Given the description of an element on the screen output the (x, y) to click on. 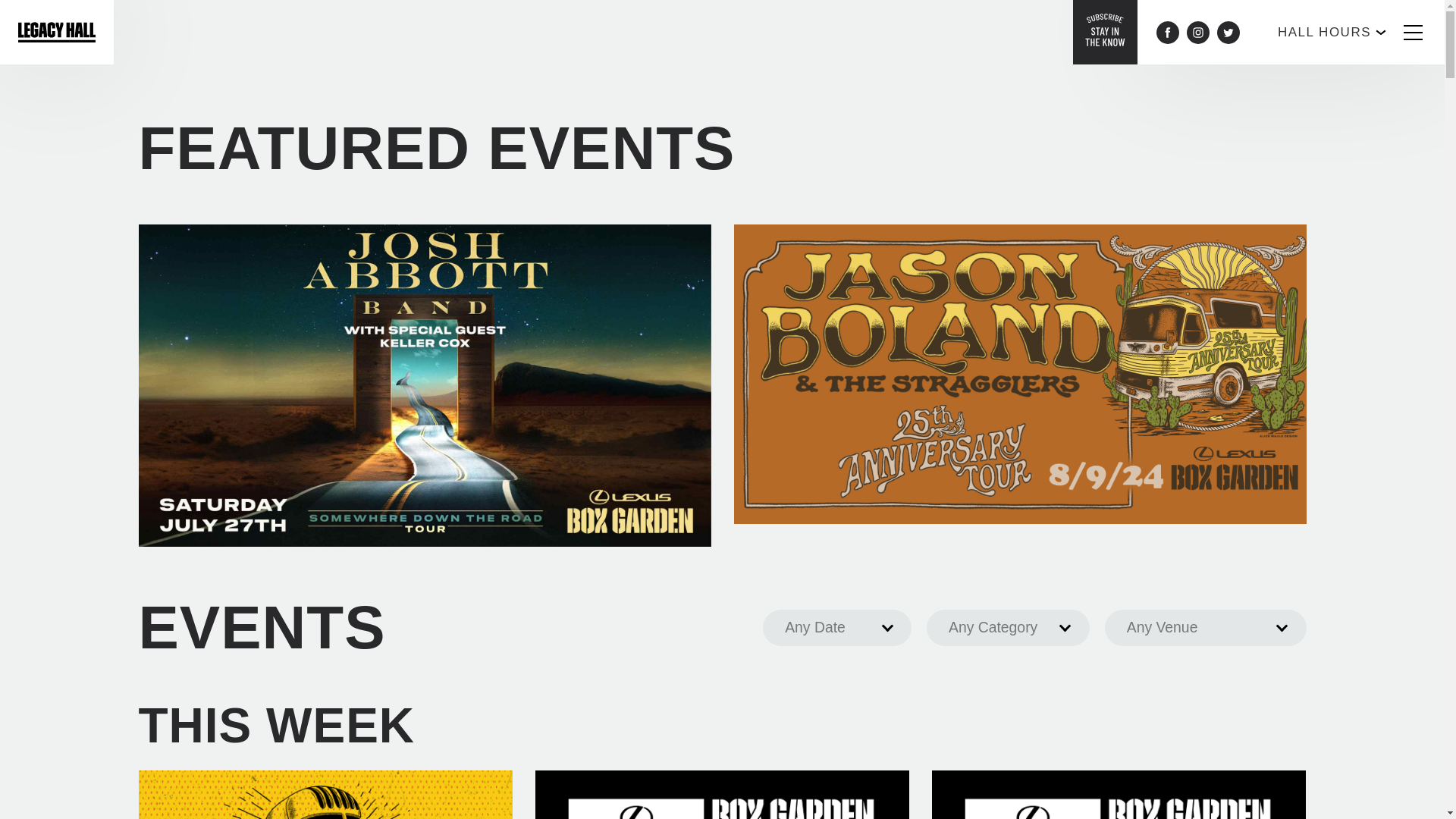
See Facebook Social Page (1167, 32)
Subscribe - Stay in the know (1104, 29)
Stay in the know (1105, 32)
See Twitter Social Page (1228, 32)
See Instagram Social Page (1197, 32)
Subscribe - Stay in the know (1105, 32)
